Given the description of an element on the screen output the (x, y) to click on. 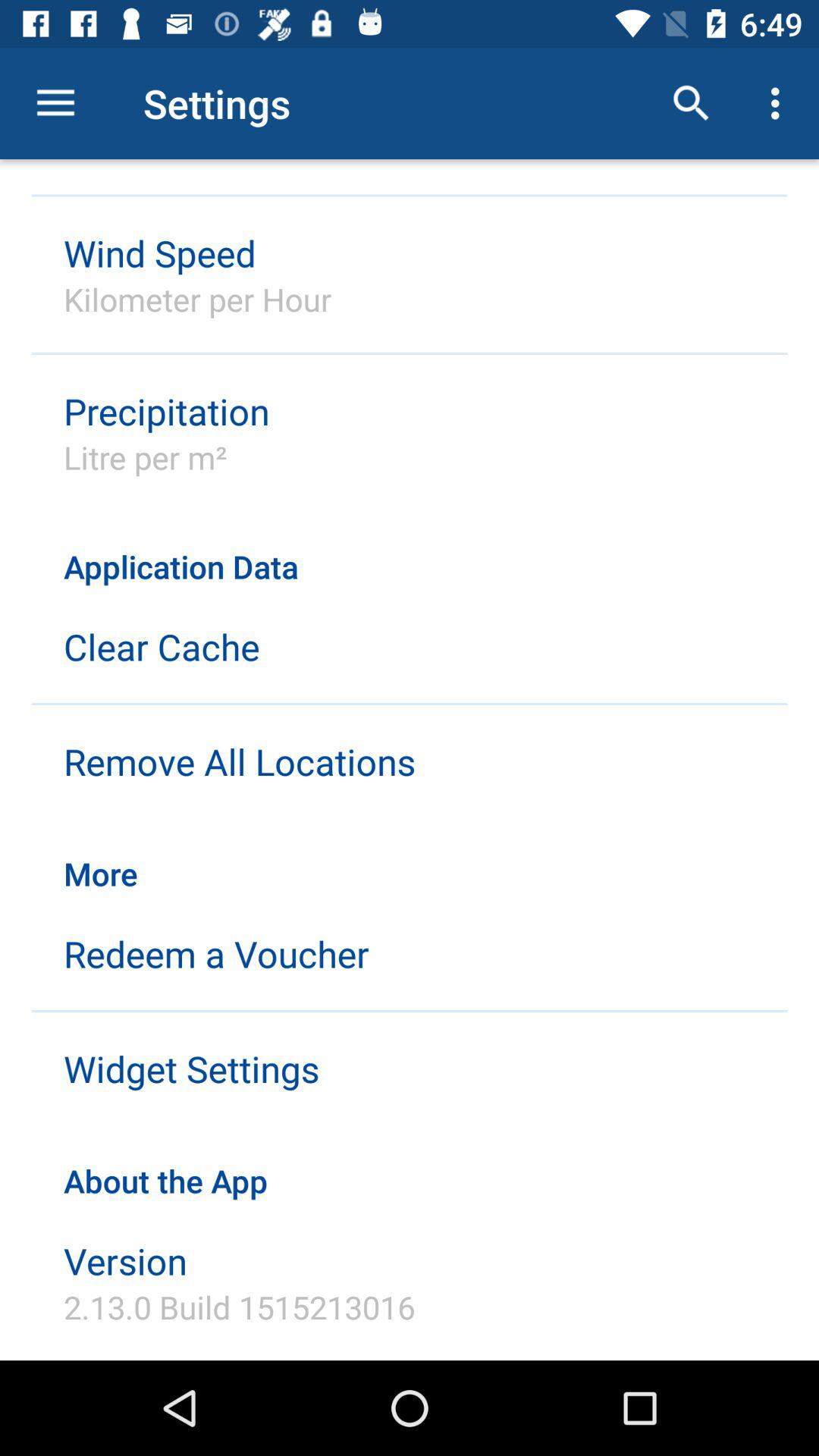
jump to the wind speed item (159, 252)
